Given the description of an element on the screen output the (x, y) to click on. 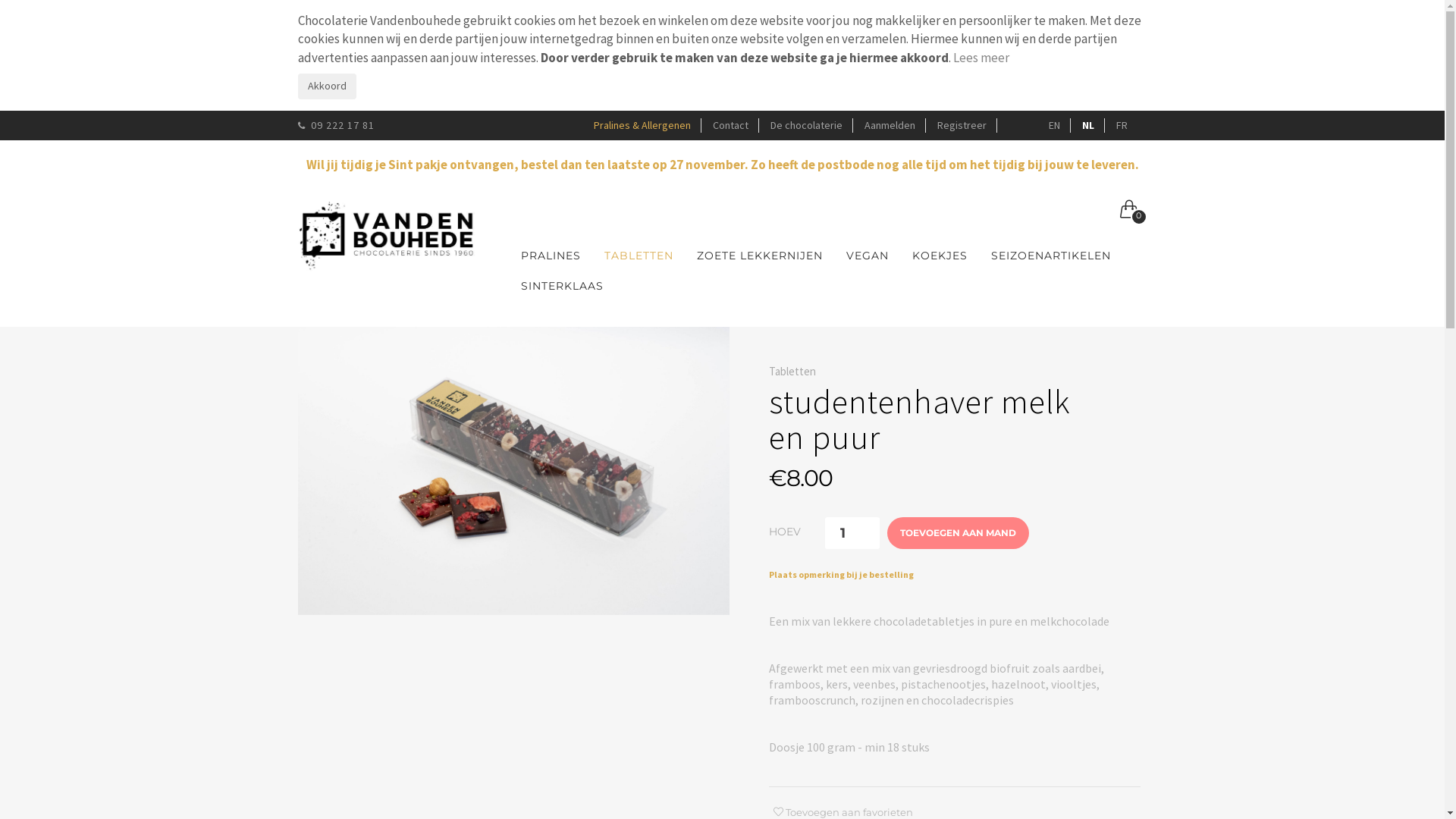
0 Element type: text (1128, 210)
PRALINES Element type: text (550, 255)
SINTERKLAAS Element type: text (561, 285)
TOEVOEGEN AAN MAND Element type: text (958, 533)
KOEKJES Element type: text (939, 255)
FR Element type: text (1121, 124)
Pralines & Allergenen Element type: text (641, 124)
Plaats opmerking bij je bestelling Element type: text (840, 574)
Akkoord Element type: text (326, 86)
NL Element type: text (1087, 124)
Lees meer Element type: text (980, 57)
Registreer Element type: text (961, 124)
Aanmelden Element type: text (889, 124)
De chocolaterie Element type: text (806, 124)
ZOETE LEKKERNIJEN Element type: text (759, 255)
TABLETTEN Element type: text (638, 255)
SEIZOENARTIKELEN Element type: text (1050, 255)
EN Element type: text (1053, 124)
09 222 17 81 Element type: text (335, 125)
VEGAN Element type: text (867, 255)
Tabletten Element type: text (791, 371)
Contact Element type: text (730, 124)
